Given the description of an element on the screen output the (x, y) to click on. 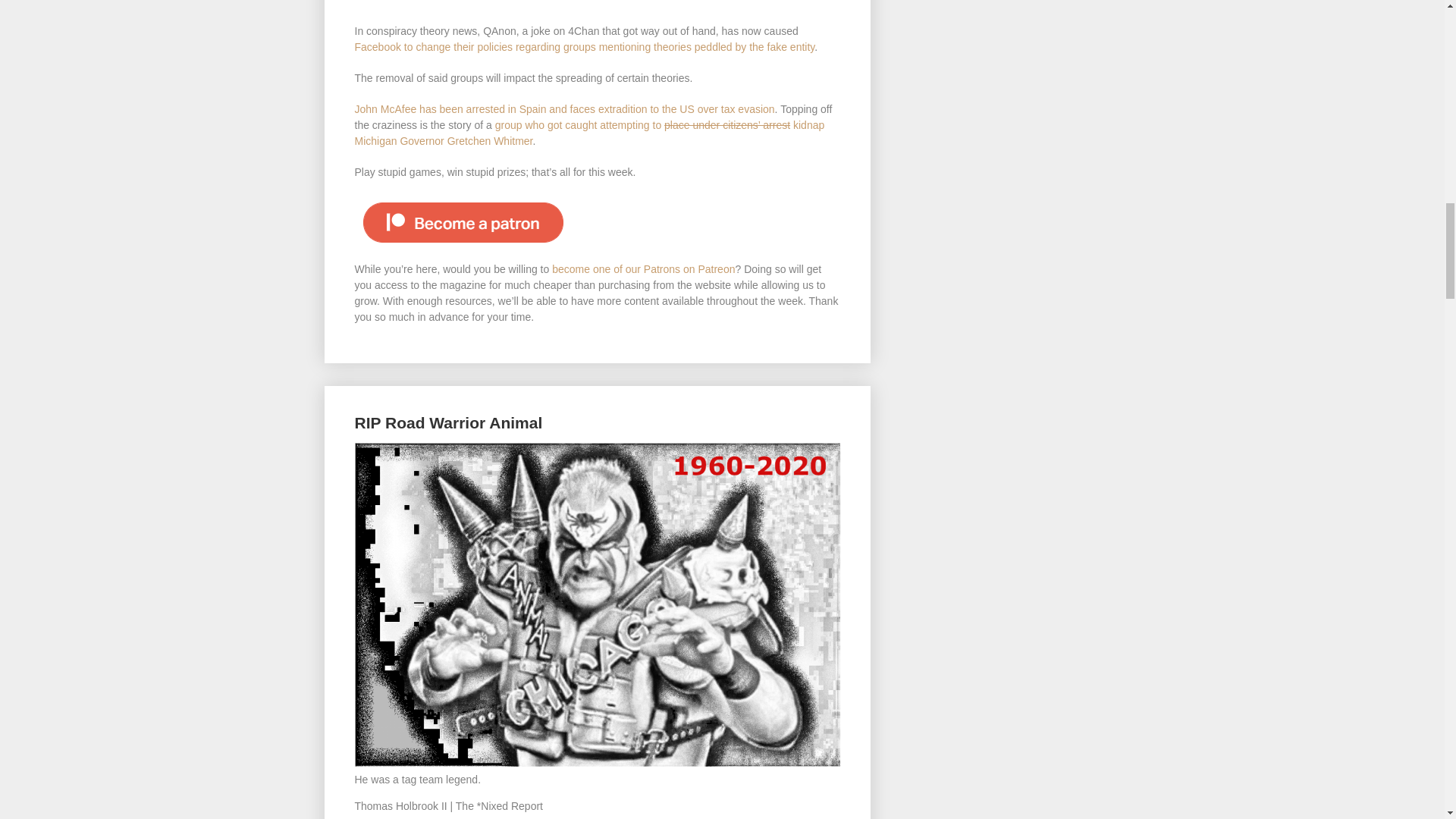
RIP Road Warrior Animal (449, 422)
become one of our Patrons on Patreon (643, 268)
RIP Road Warrior Animal (449, 422)
DO NOT GO TO A YOUTUBER'S HOUSE FOR ANY REASON (597, 4)
